Given the description of an element on the screen output the (x, y) to click on. 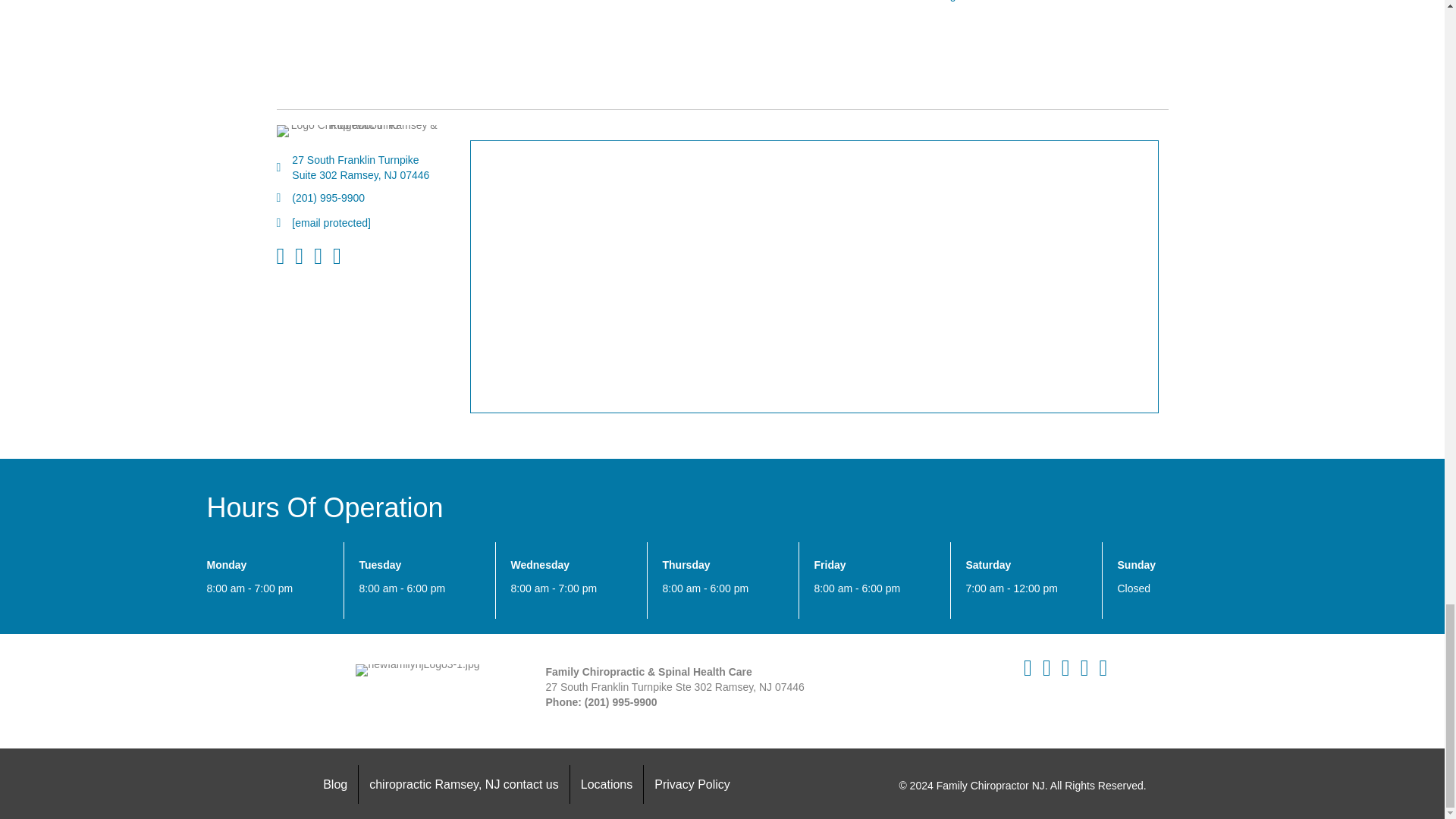
newfamilynjLogo3-1.jpg (417, 670)
